Given the description of an element on the screen output the (x, y) to click on. 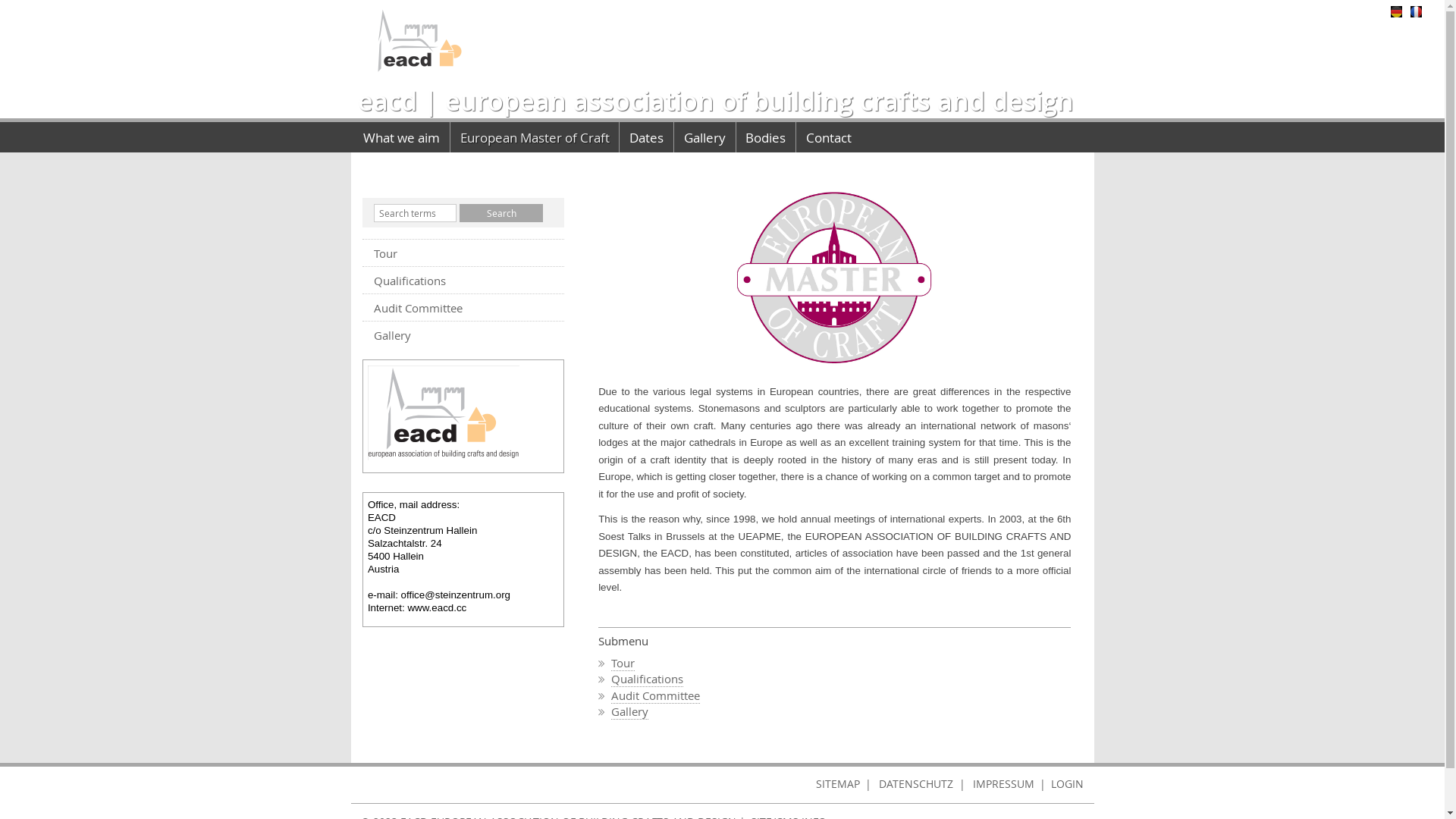
DATENSCHUTZ Element type: text (916, 783)
Deutsch Element type: hover (1399, 9)
Audit Committee Element type: text (463, 307)
Contact Element type: text (828, 137)
Qualifications Element type: text (463, 279)
What we aim Element type: text (401, 137)
Audit Committee Element type: text (655, 695)
Dates Element type: text (646, 137)
 eacd | european association of building crafts and design Element type: text (711, 101)
Gallery Element type: text (463, 334)
Tour Element type: text (622, 663)
Qualifications Element type: text (647, 679)
Gallery Element type: text (629, 711)
Gallery Element type: text (704, 137)
Bodies Element type: text (766, 137)
Tour Element type: text (463, 252)
Search Element type: text (500, 212)
SITEMAP Element type: text (837, 783)
LOGIN Element type: text (1072, 783)
IMPRESSUM Element type: text (1003, 783)
Search terms Element type: hover (414, 212)
  Element type: text (421, 39)
EACD Element type: hover (443, 412)
